Given the description of an element on the screen output the (x, y) to click on. 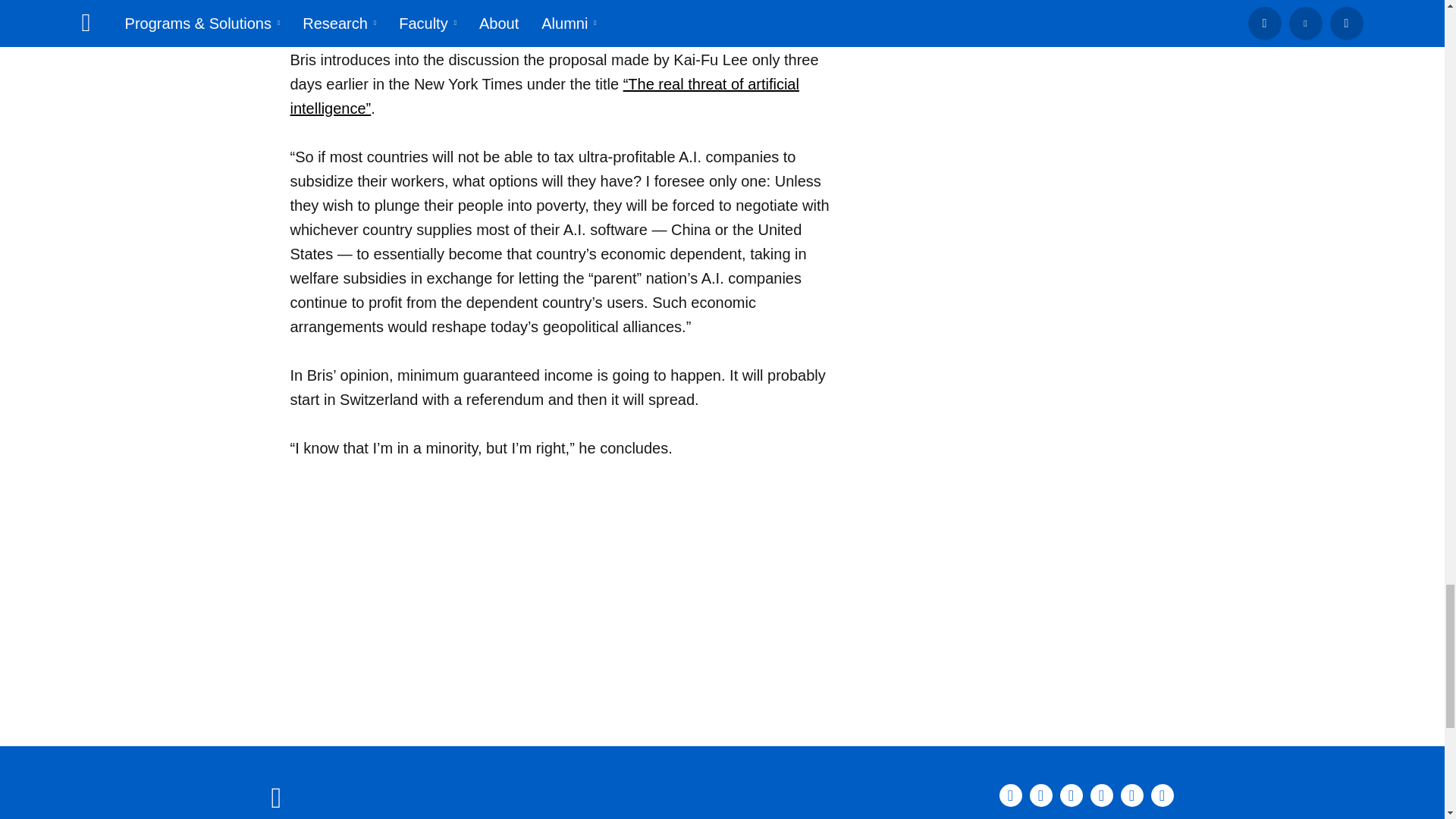
Twitter (1101, 794)
YouTube (1131, 794)
Facebook (1040, 794)
Flickr (1162, 794)
LinkedIn (1010, 794)
Instagram (1071, 794)
